Given the description of an element on the screen output the (x, y) to click on. 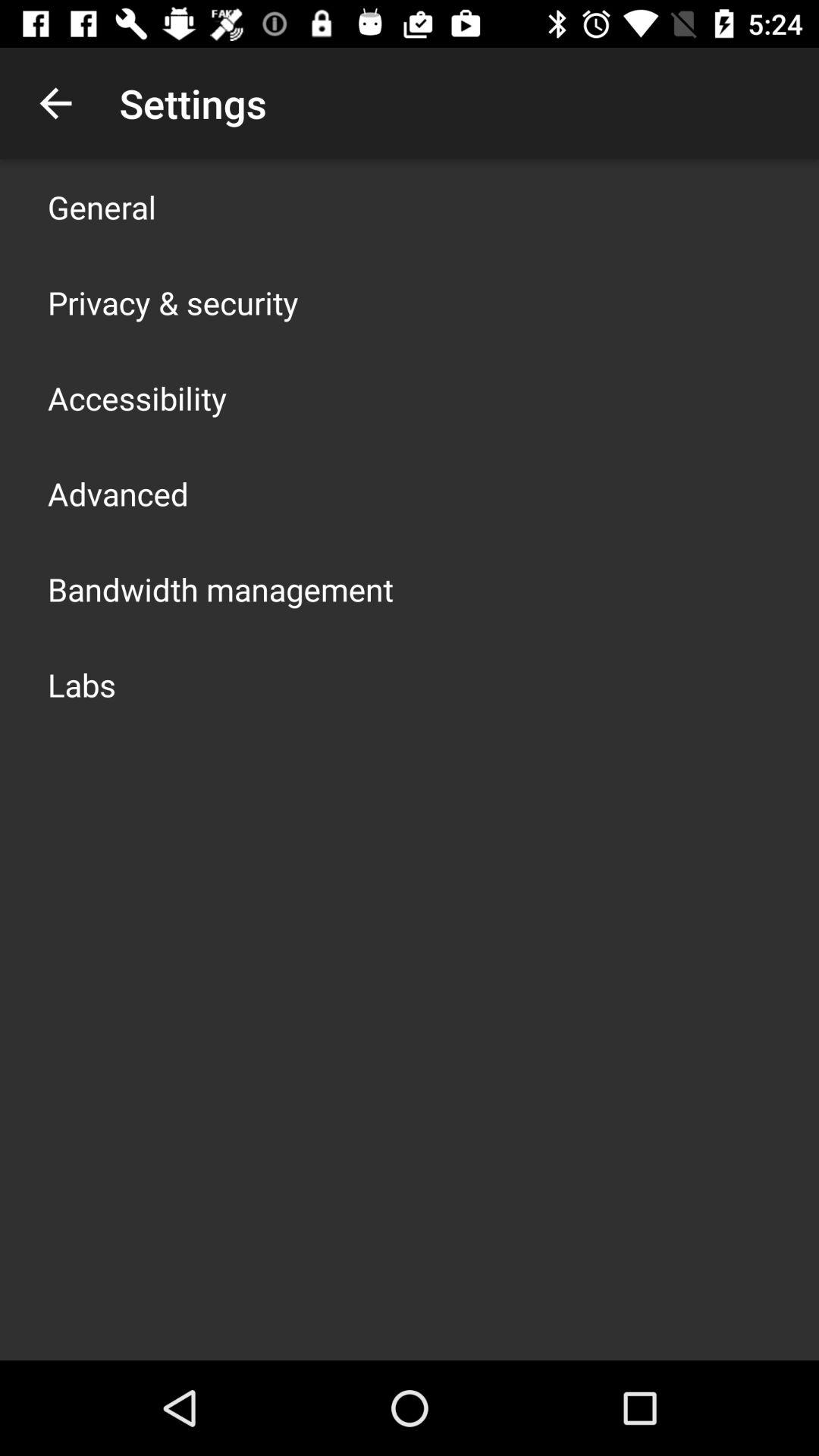
turn off app to the left of the settings icon (55, 103)
